Given the description of an element on the screen output the (x, y) to click on. 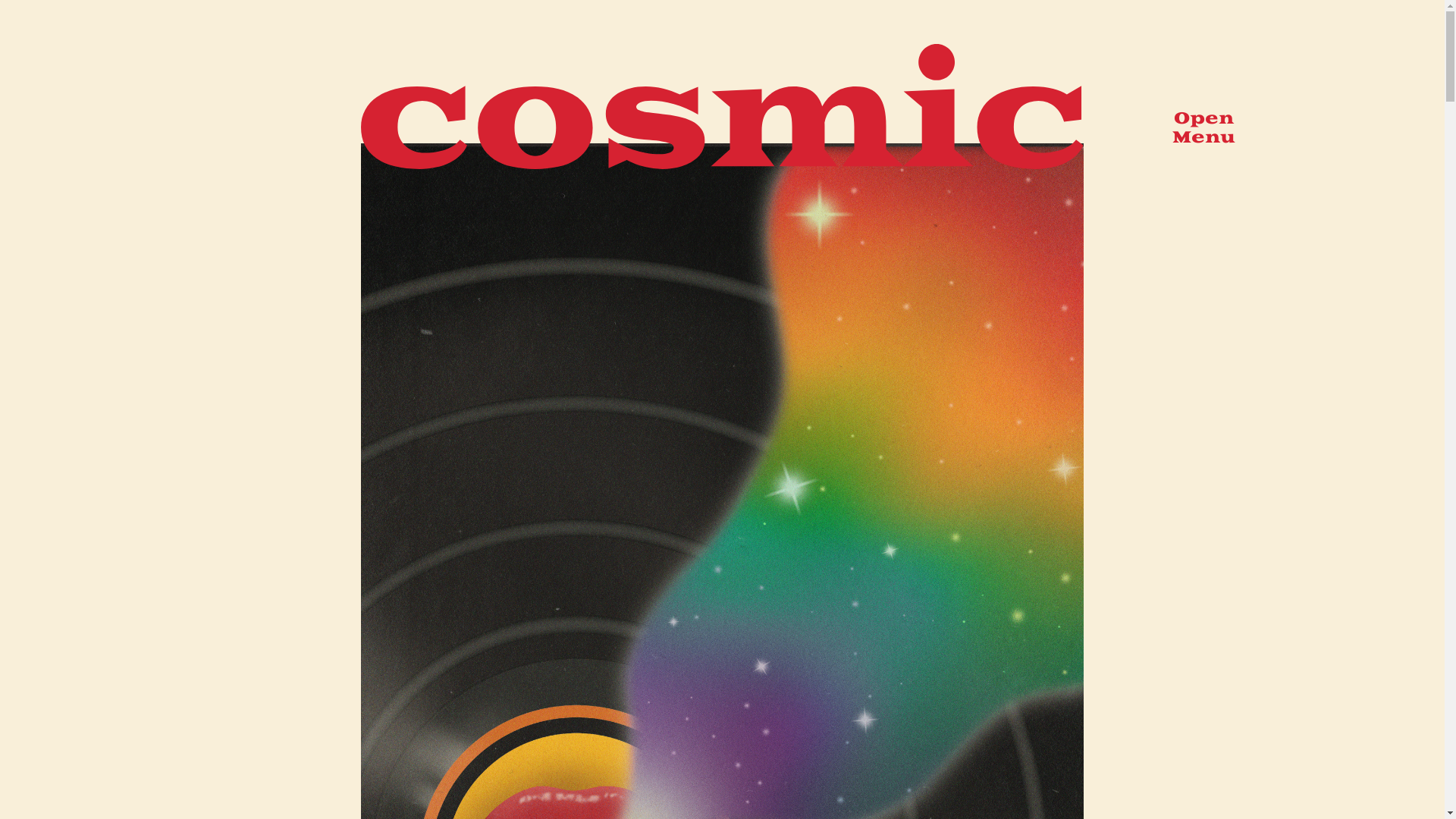
Open
Menu Element type: text (1203, 128)
